Given the description of an element on the screen output the (x, y) to click on. 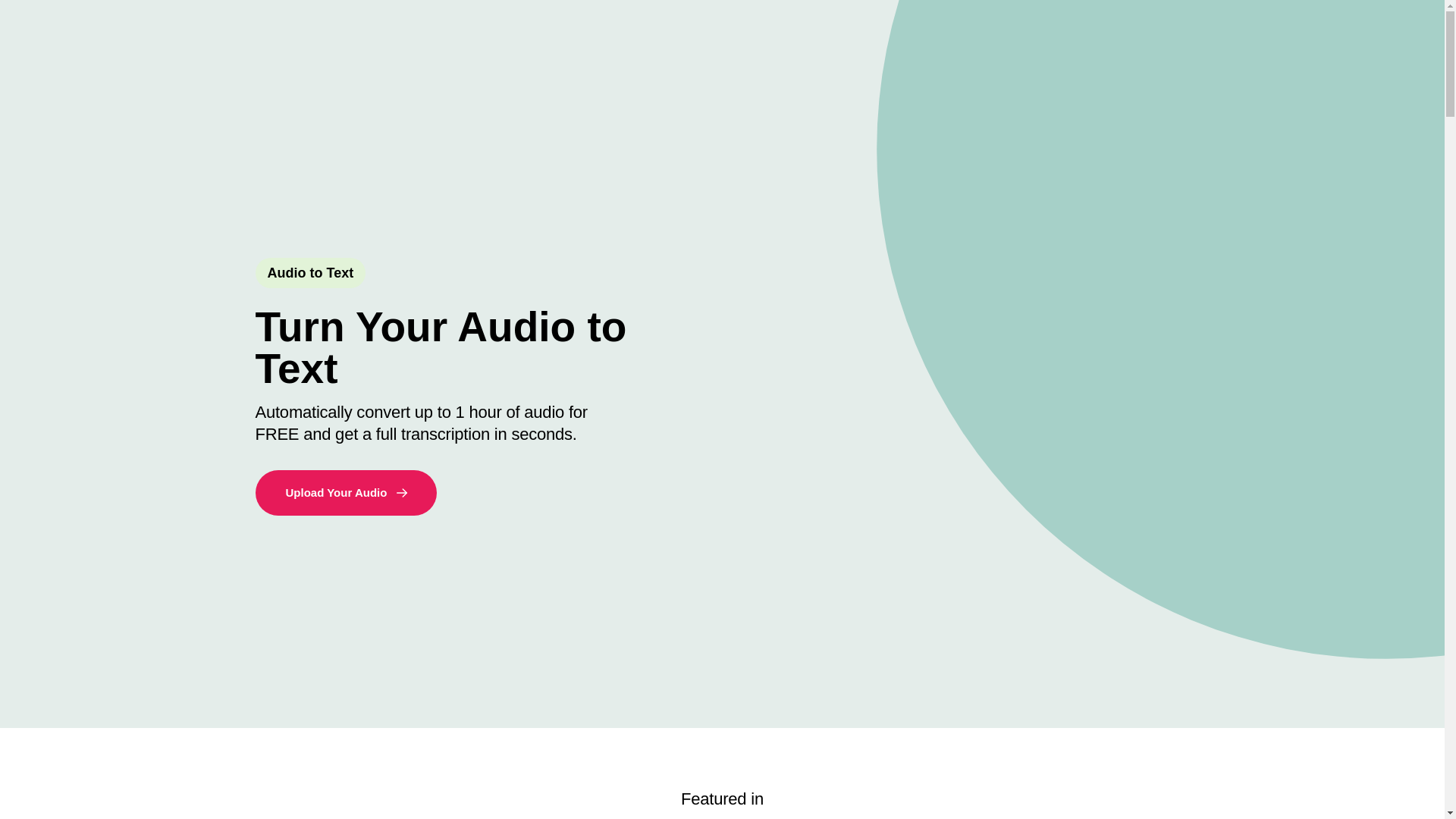
Upload Your Audio (345, 492)
